Given the description of an element on the screen output the (x, y) to click on. 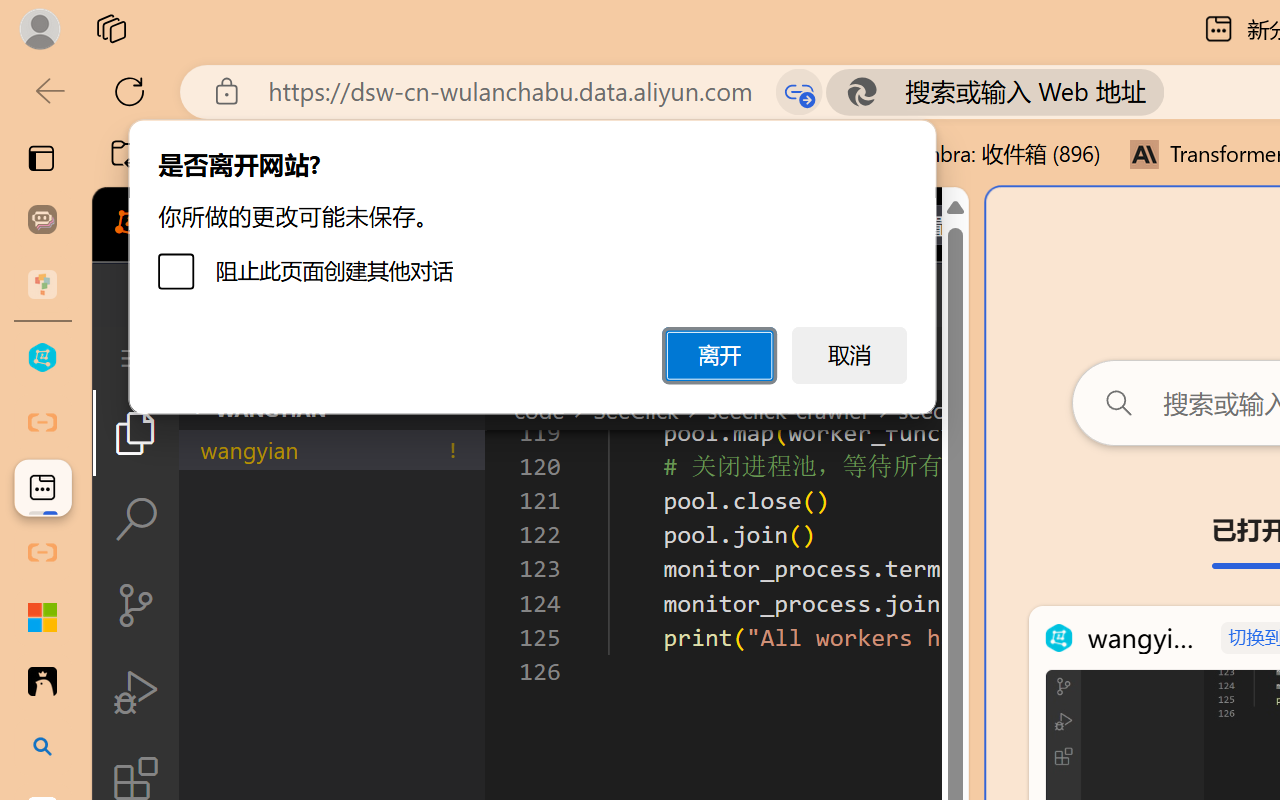
Adjust indents and spacing - Microsoft Support (42, 617)
Run and Debug (Ctrl+Shift+D) (135, 692)
